Given the description of an element on the screen output the (x, y) to click on. 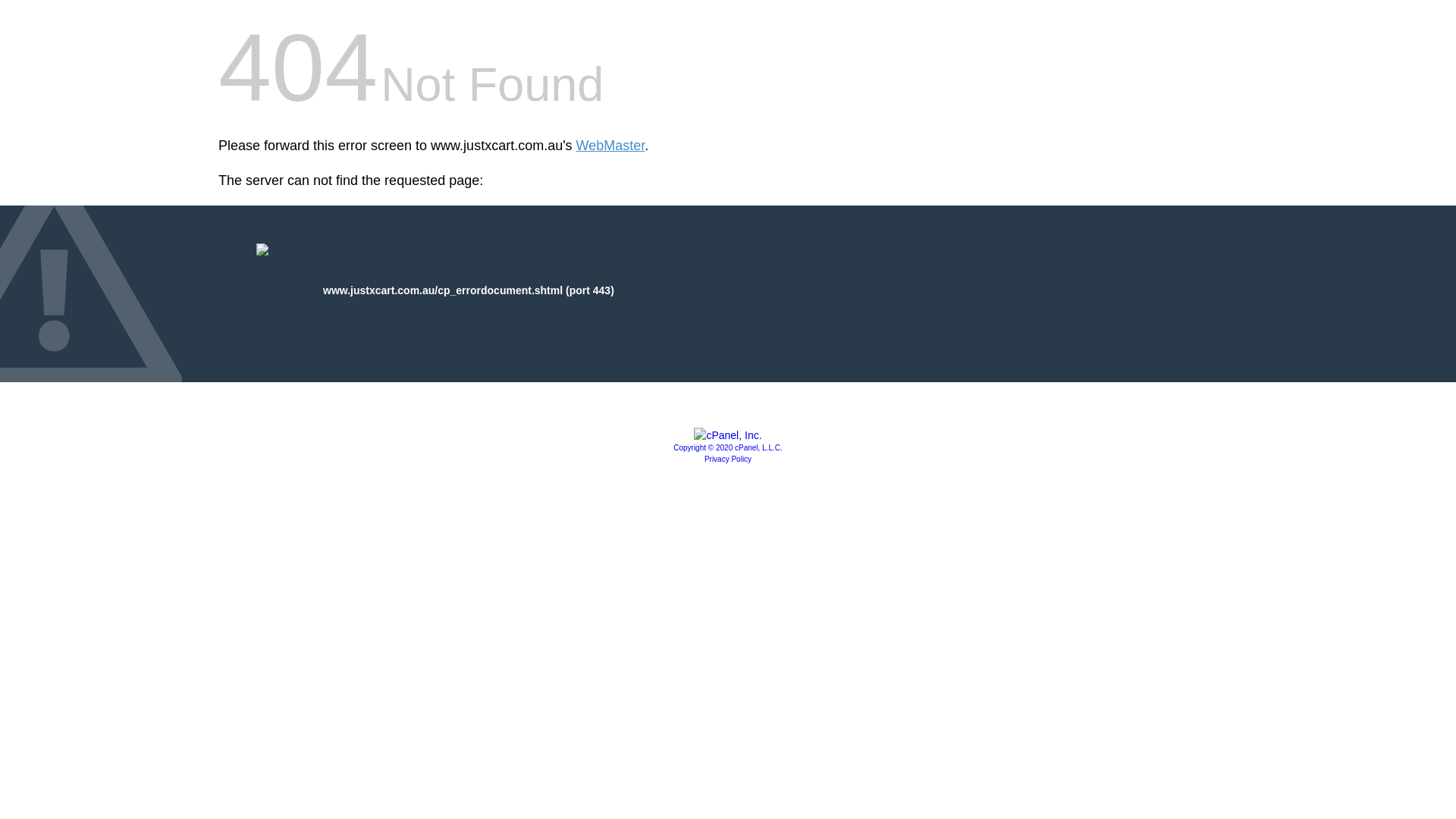
WebMaster Element type: text (610, 145)
cPanel, Inc. Element type: hover (727, 435)
Privacy Policy Element type: text (727, 459)
